Given the description of an element on the screen output the (x, y) to click on. 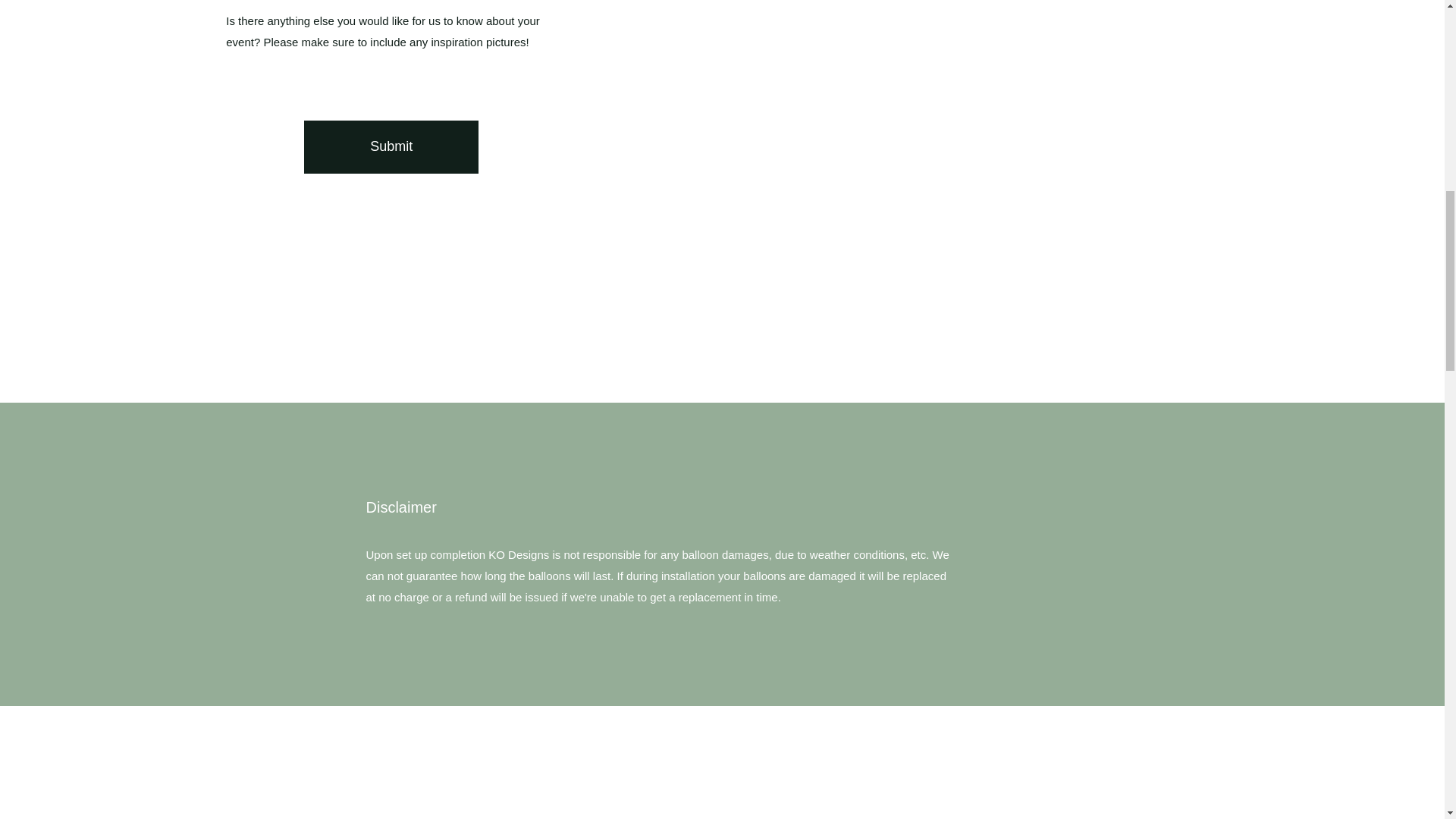
Submit (391, 146)
